Given the description of an element on the screen output the (x, y) to click on. 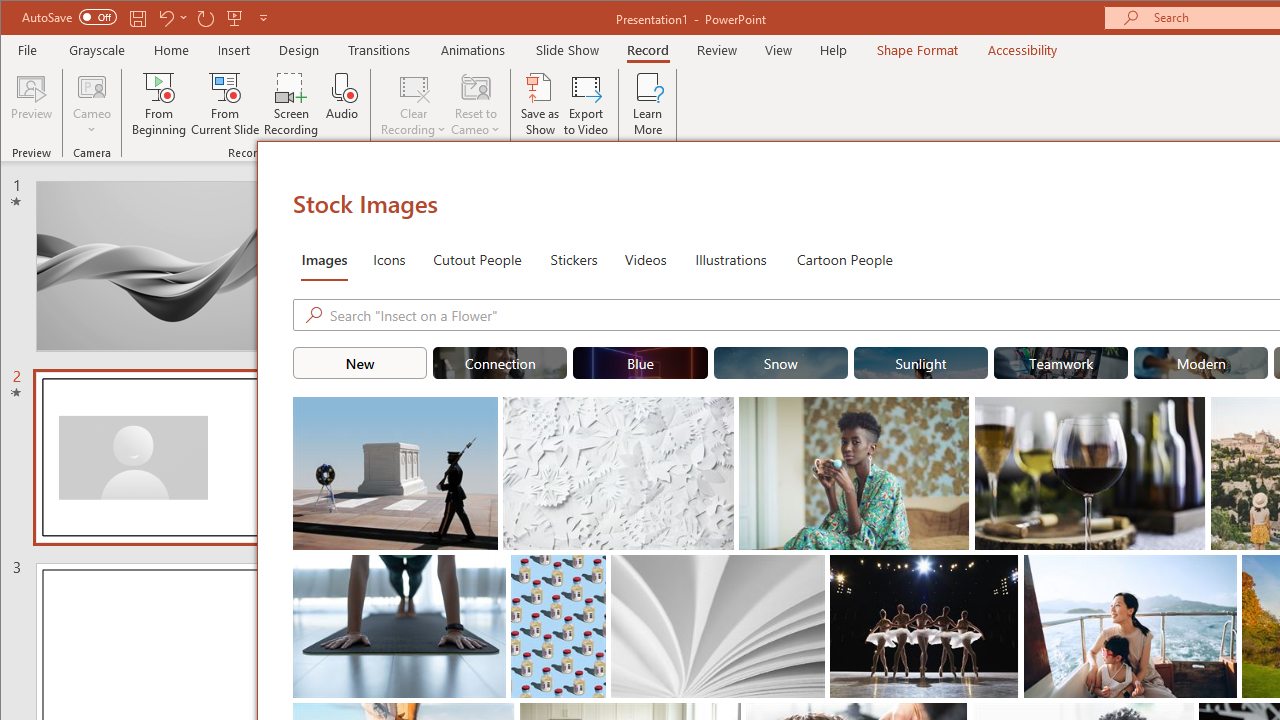
Illustrations (730, 258)
Cutout People (477, 258)
"Snow" Stock Images. (780, 362)
"Sunlight" Stock Images. (920, 362)
